Given the description of an element on the screen output the (x, y) to click on. 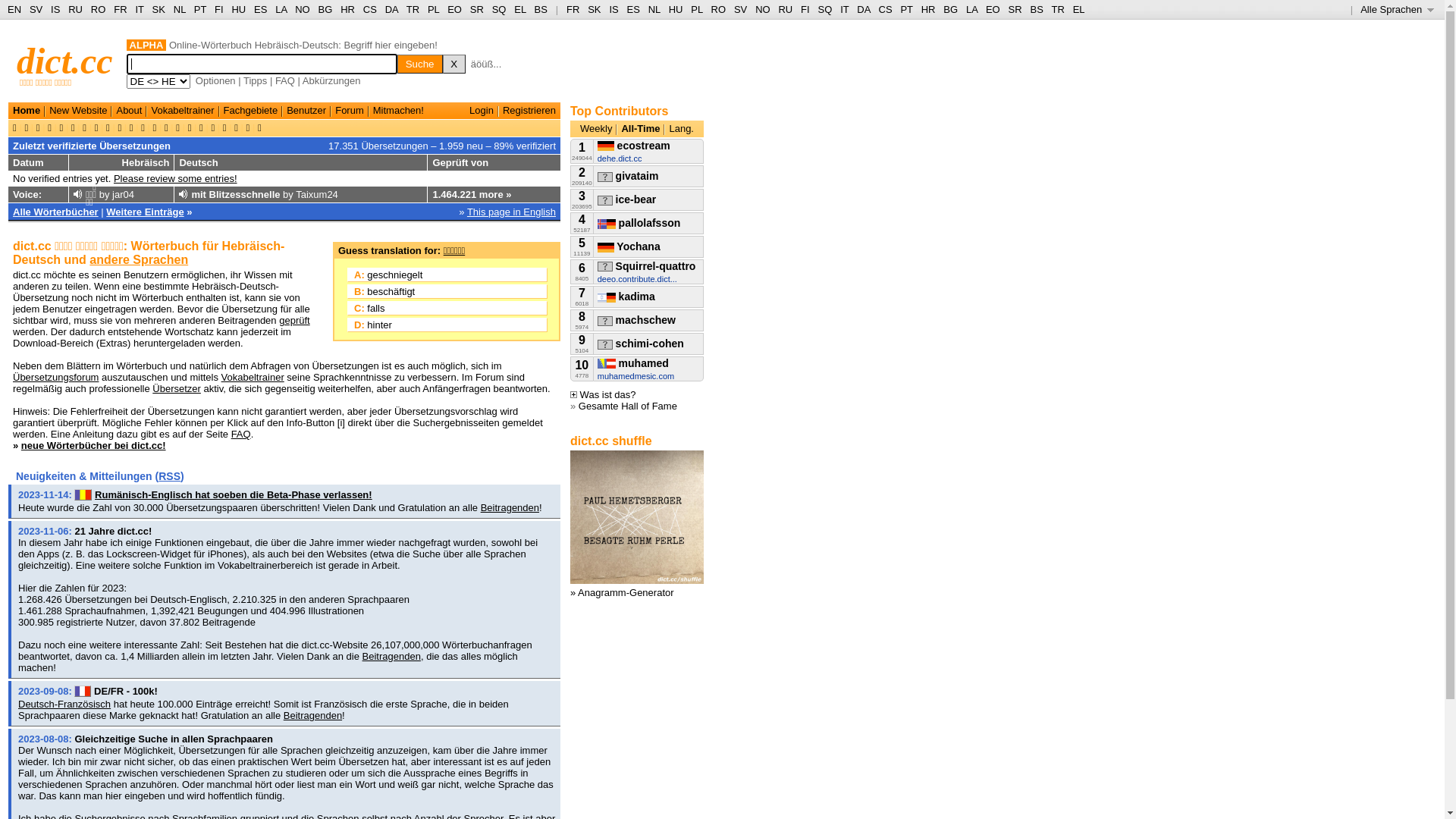
ES Element type: text (260, 9)
dehe.dict.cc Element type: text (619, 158)
Beitragenden Element type: text (509, 507)
Fachgebiete Element type: text (250, 110)
FAQ Element type: text (241, 433)
deeo.contribute.dict... Element type: text (637, 278)
RSS Element type: text (169, 476)
SR Element type: text (1015, 9)
FI Element type: text (218, 9)
SK Element type: text (593, 9)
Registrieren Element type: text (528, 110)
FI Element type: text (804, 9)
SR Element type: text (476, 9)
muhamedmesic.com Element type: text (635, 375)
Vokabeltrainer Element type: text (181, 110)
Weekly Element type: text (595, 128)
PT Element type: text (906, 9)
kadima Element type: text (626, 296)
IT Element type: text (844, 9)
CS Element type: text (884, 9)
HR Element type: text (347, 9)
Tipps Element type: text (254, 80)
FR Element type: text (572, 9)
A: geschniegelt Element type: text (447, 274)
EO Element type: text (992, 9)
Was ist das? Element type: text (603, 394)
Beitragenden Element type: text (391, 656)
givataim Element type: text (627, 175)
BS Element type: text (540, 9)
Yochana Element type: text (628, 246)
LA Element type: text (971, 9)
BG Element type: text (950, 9)
Taixum24 Element type: text (316, 194)
ecostream Element type: text (633, 145)
IS Element type: text (613, 9)
BS Element type: text (1035, 9)
Benutzer Element type: text (306, 110)
EN Element type: text (14, 9)
HU Element type: text (675, 9)
Login Element type: text (481, 110)
All-Time Element type: text (640, 128)
Forum Element type: text (349, 110)
pallolafsson Element type: text (638, 222)
DA Element type: text (391, 9)
Alle Sprachen  Element type: text (1397, 9)
SQ Element type: text (824, 9)
PT Element type: text (200, 9)
About Element type: text (128, 110)
LA Element type: text (280, 9)
dict.cc Element type: text (64, 60)
HR Element type: text (928, 9)
SK Element type: text (158, 9)
EL Element type: text (1079, 9)
mit Blitzesschnelle Element type: text (235, 194)
Home Element type: text (26, 110)
RU Element type: text (75, 9)
Suche Element type: text (419, 63)
Vokabeltrainer Element type: text (252, 376)
NO Element type: text (762, 9)
Beitragenden Element type: text (312, 715)
schimi-cohen Element type: text (640, 343)
D: hinter Element type: text (447, 324)
Gesamte Hall of Fame Element type: text (627, 405)
C: falls Element type: text (447, 308)
Squirrel-quattro Element type: text (646, 266)
Voice: Element type: text (26, 194)
Mitmachen! Element type: text (398, 110)
BG Element type: text (325, 9)
andere Sprachen Element type: text (138, 259)
DA Element type: text (862, 9)
PL Element type: text (696, 9)
IS Element type: text (54, 9)
machschew Element type: text (636, 319)
Optionen Element type: text (215, 80)
NL Element type: text (654, 9)
RO Element type: text (718, 9)
RO Element type: text (98, 9)
Please review some entries! Element type: text (175, 178)
SV Element type: text (740, 9)
NO Element type: text (302, 9)
NL Element type: text (179, 9)
X Element type: text (453, 63)
Lang. Element type: text (680, 128)
TR Element type: text (1057, 9)
SQ Element type: text (499, 9)
EO Element type: text (454, 9)
New Website Element type: text (77, 110)
EL Element type: text (519, 9)
This page in English Element type: text (511, 211)
ES Element type: text (633, 9)
HU Element type: text (238, 9)
FAQ Element type: text (284, 80)
SV Element type: text (35, 9)
ice-bear Element type: text (626, 199)
jar04 Element type: text (123, 194)
PL Element type: text (433, 9)
CS Element type: text (369, 9)
TR Element type: text (412, 9)
muhamed Element type: text (632, 363)
FR Element type: text (119, 9)
IT Element type: text (138, 9)
RU Element type: text (785, 9)
